Given the description of an element on the screen output the (x, y) to click on. 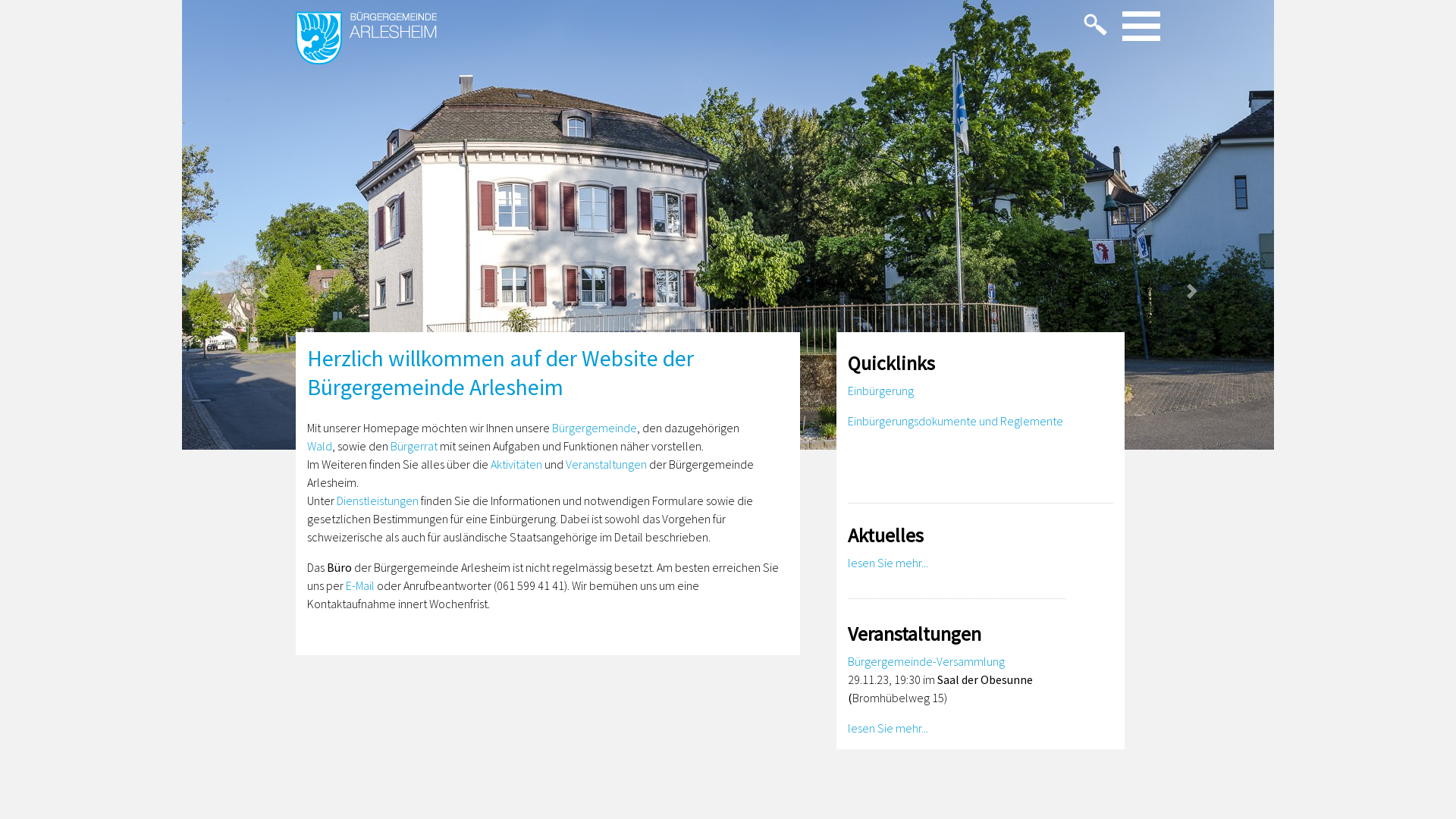
Previous Element type: text (263, 291)
Weiter Element type: text (1192, 291)
lesen Sie mehr... Element type: text (887, 562)
Wald Element type: text (319, 445)
Veranstaltungen Element type: text (605, 463)
E-Mail Element type: text (359, 585)
lesen Sie mehr... Element type: text (887, 727)
Dienstleistungen Element type: text (377, 500)
